Given the description of an element on the screen output the (x, y) to click on. 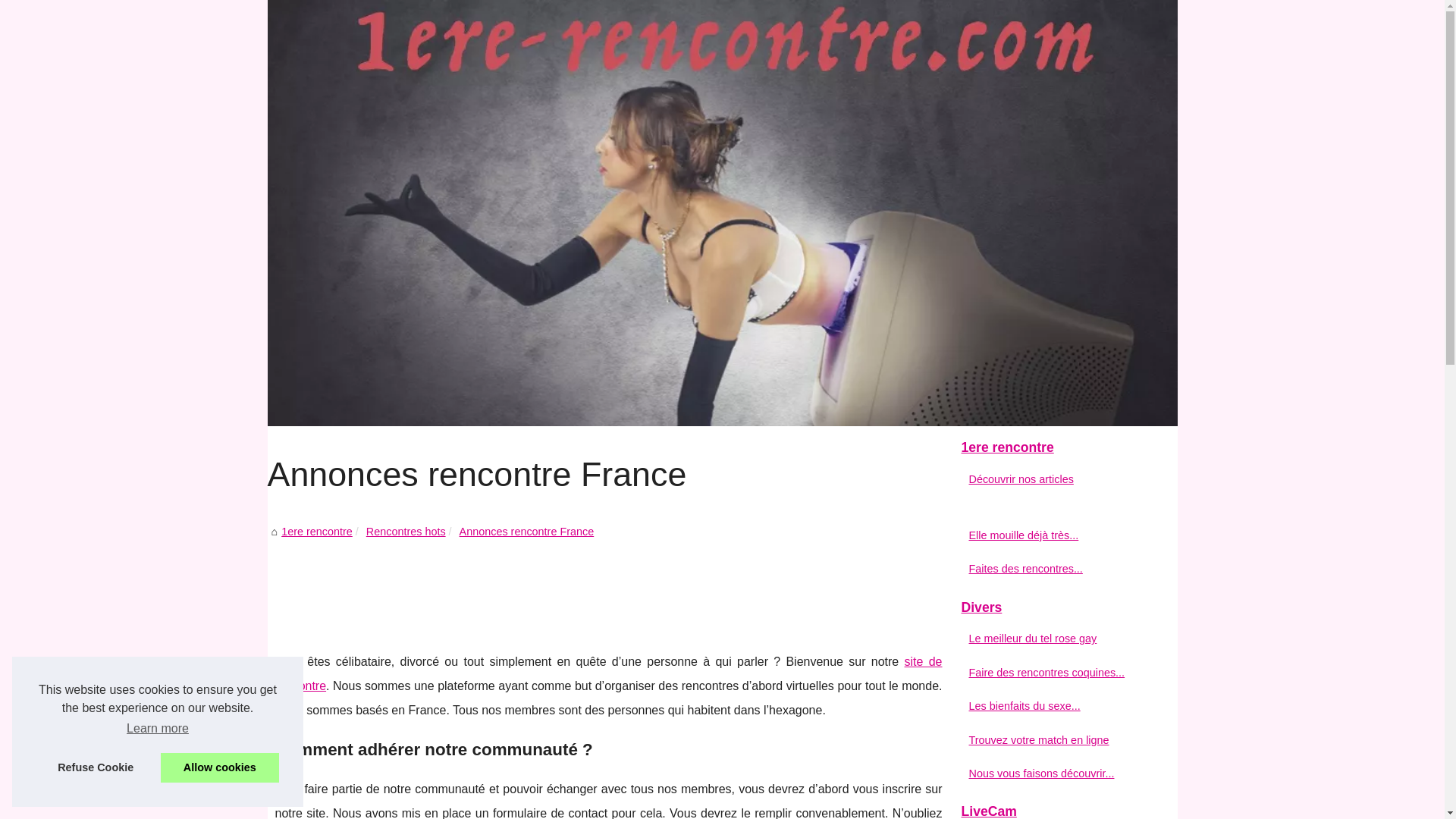
site de rencontre Element type: text (607, 673)
1ere rencontre Element type: text (316, 531)
1ere rencontre Element type: hover (721, 213)
Rencontres hots Element type: text (405, 531)
Le meilleur du tel rose gay Element type: text (1055, 638)
Faire des rencontres coquines... Element type: text (1055, 672)
Learn more Element type: text (157, 728)
Divers Element type: text (1063, 607)
Allow cookies Element type: text (219, 767)
Annonces rencontre France Element type: text (526, 531)
Les bienfaits du sexe... Element type: text (1055, 705)
Faites des rencontres... Element type: text (1055, 568)
Refuse Cookie Element type: text (95, 767)
Trouvez votre match en ligne Element type: text (1055, 740)
1ere rencontre Element type: text (1063, 447)
